Given the description of an element on the screen output the (x, y) to click on. 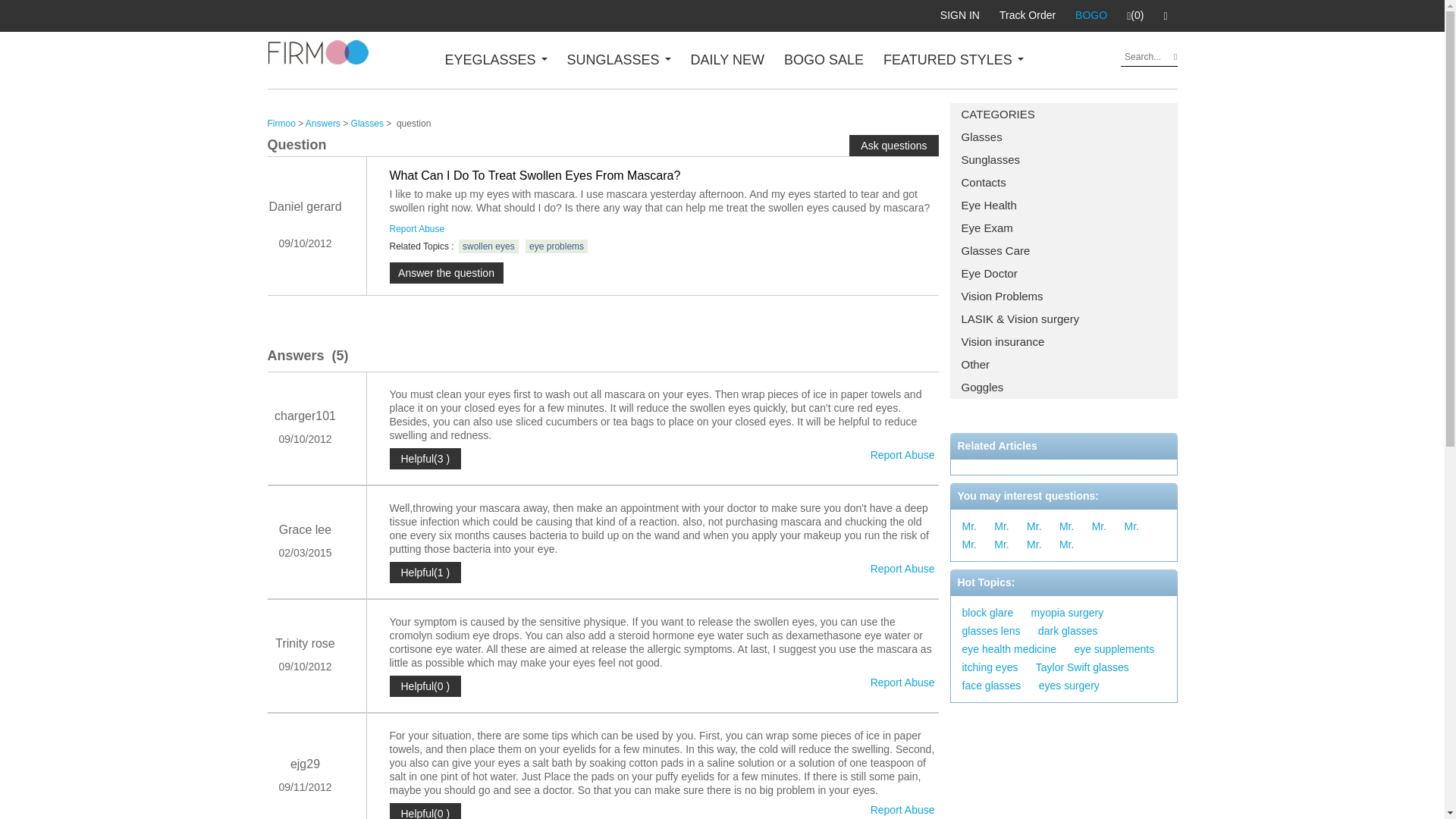
Track Order (1027, 15)
BOGO (1090, 15)
EYEGLASSES (495, 59)
SIGN IN (960, 15)
